Given the description of an element on the screen output the (x, y) to click on. 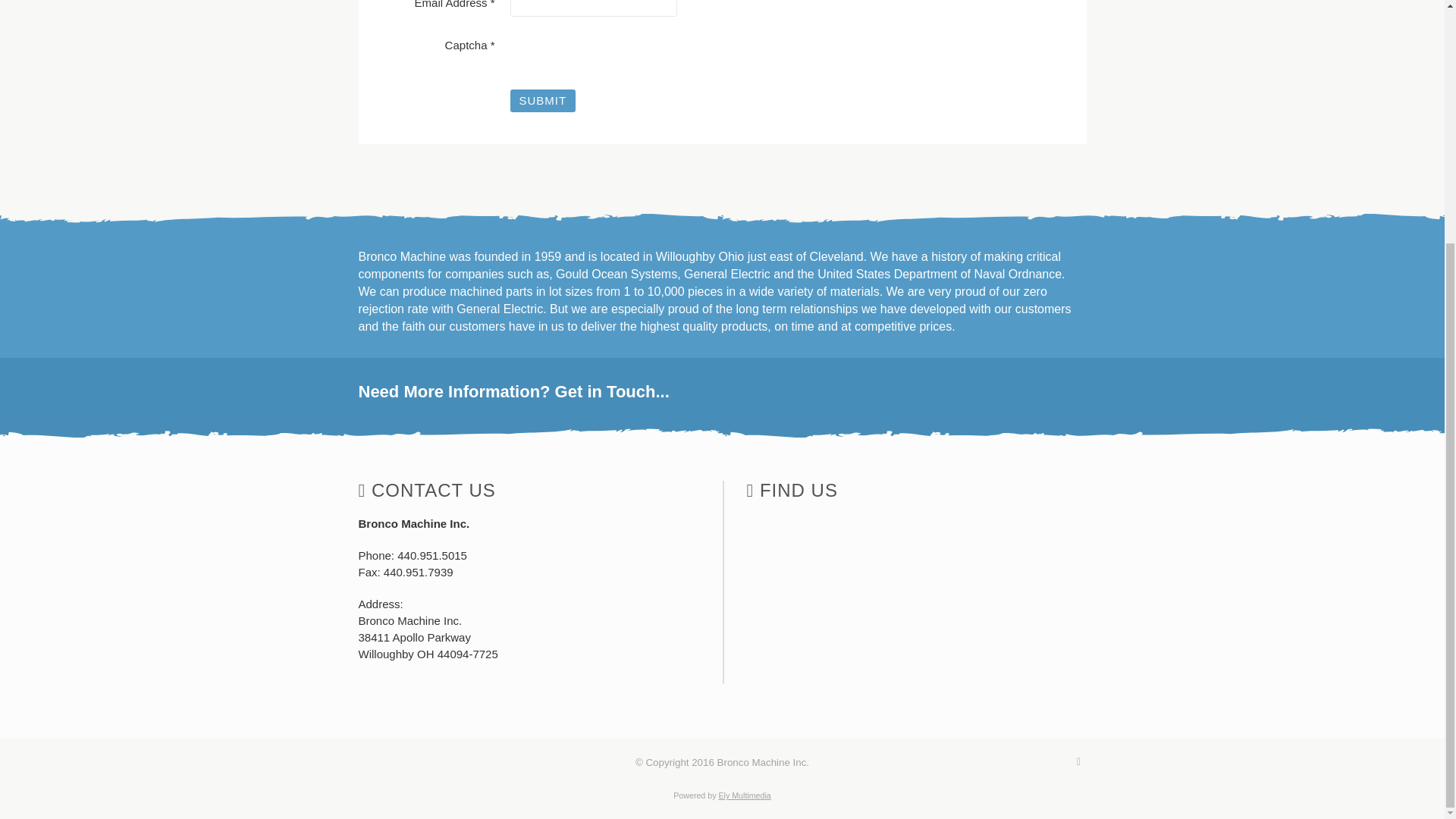
SUBMIT (542, 100)
Ely Multimedia (743, 795)
Need More Information? Get in Touch... (722, 391)
